Given the description of an element on the screen output the (x, y) to click on. 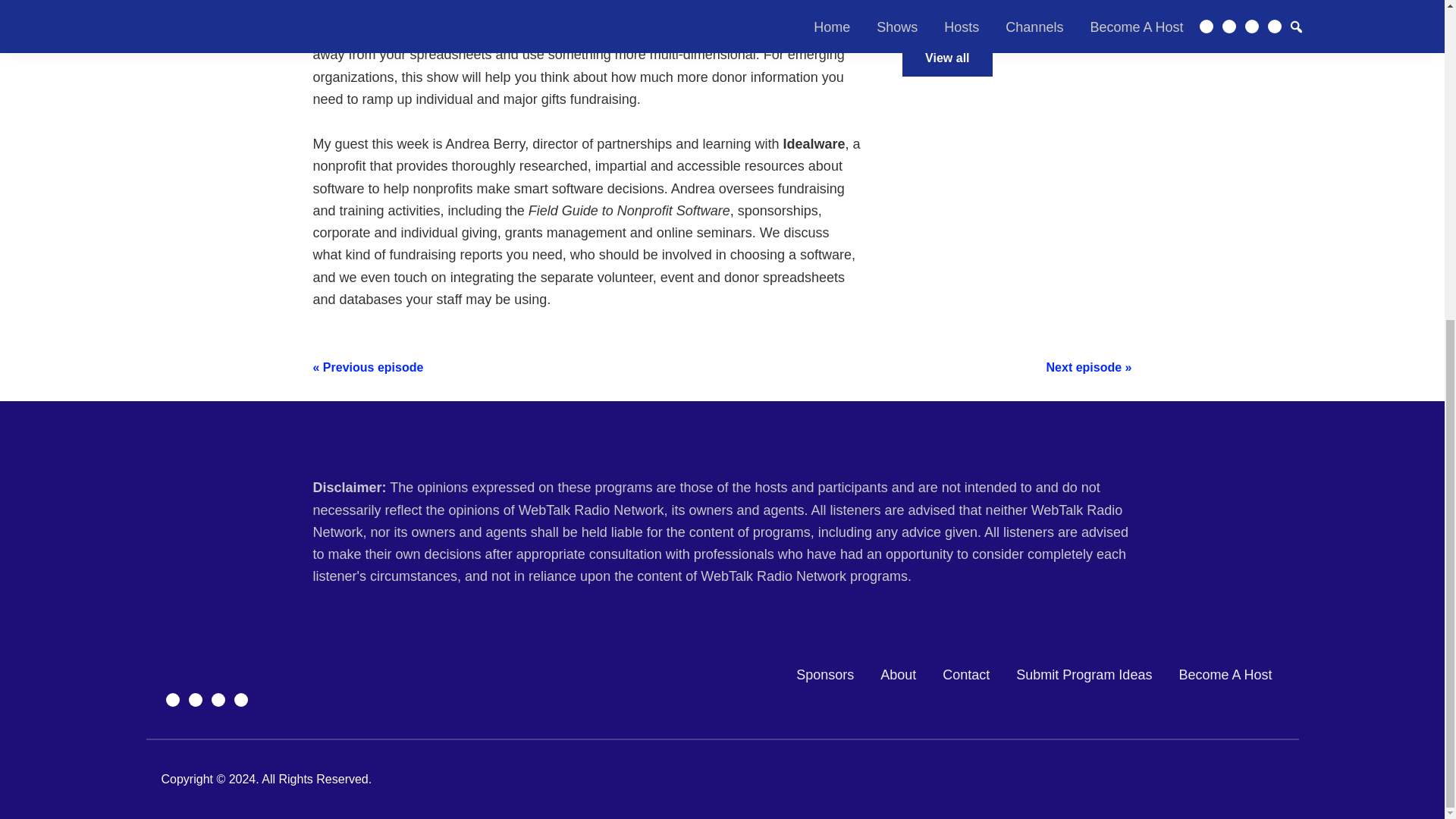
View all (946, 57)
Idealware (811, 143)
About (897, 674)
Sponsors (824, 674)
Contact (966, 674)
